Given the description of an element on the screen output the (x, y) to click on. 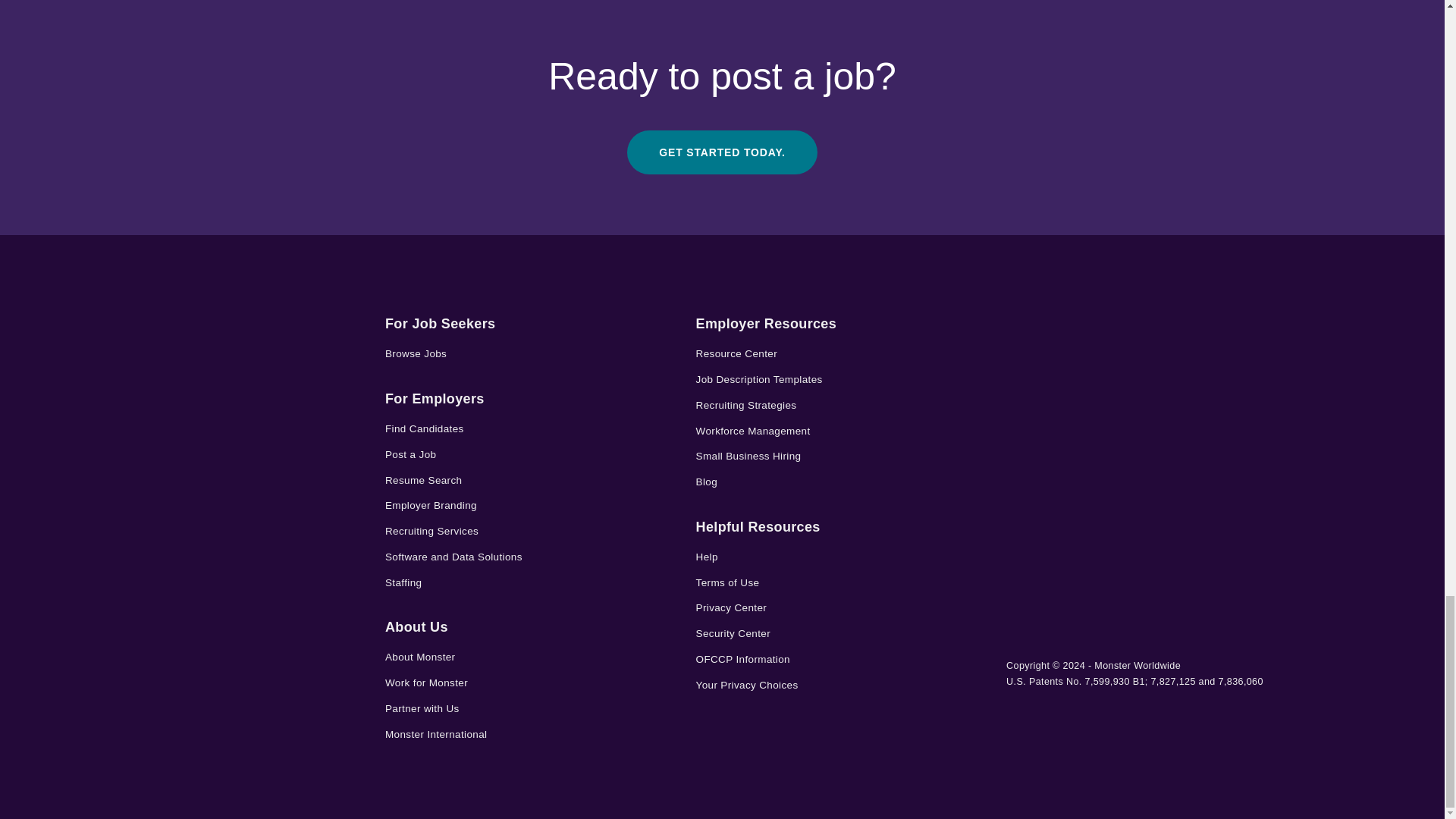
Go to Monster home (192, 332)
